Given the description of an element on the screen output the (x, y) to click on. 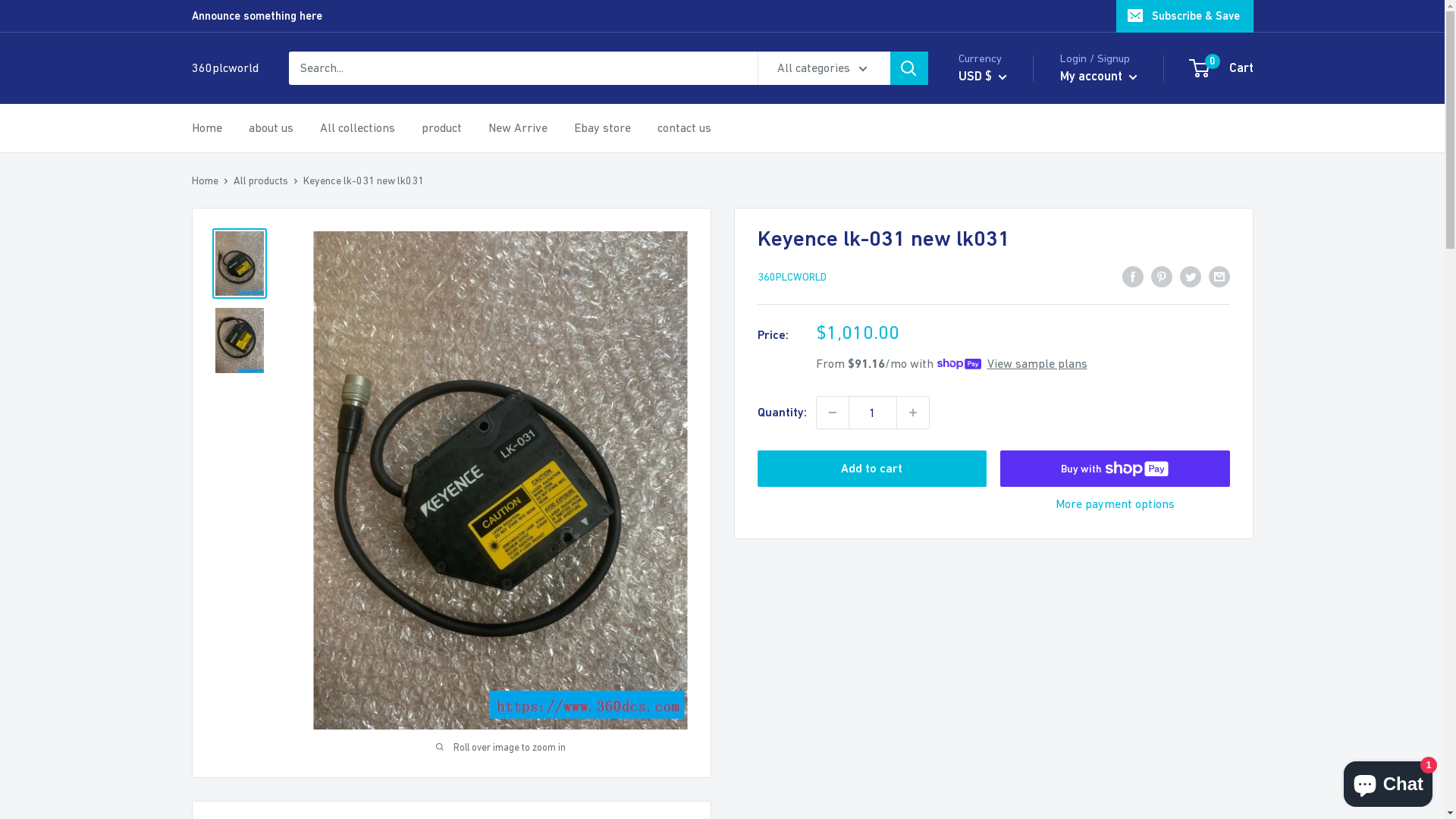
360PLCWORLD Element type: text (790, 276)
EUR Element type: text (229, 196)
LBP Element type: text (229, 698)
LAK Element type: text (229, 677)
KYD Element type: text (229, 637)
360plcworld Element type: text (224, 67)
JPY Element type: text (229, 517)
More payment options Element type: text (1115, 503)
FJD Element type: text (229, 216)
My account Element type: text (1098, 76)
AFN Element type: text (1004, 276)
CVE Element type: text (1004, 786)
ALL Element type: text (1004, 300)
GYD Element type: text (229, 336)
DOP Element type: text (229, 115)
KZT Element type: text (229, 657)
CNY Element type: text (1004, 740)
GBP Element type: text (229, 256)
MKD Element type: text (229, 778)
HUF Element type: text (229, 396)
BSD Element type: text (1004, 601)
All collections Element type: text (357, 127)
AMD Element type: text (1004, 323)
USD $ Element type: text (982, 76)
Home Element type: text (204, 180)
BAM Element type: text (1004, 438)
LKR Element type: text (229, 717)
ETB Element type: text (229, 176)
JMD Element type: text (229, 497)
DJF Element type: text (229, 75)
ANG Element type: text (1004, 346)
EGP Element type: text (229, 155)
CVE Element type: text (229, 35)
KRW Element type: text (229, 617)
AZN Element type: text (1004, 416)
product Element type: text (441, 127)
BBD Element type: text (1004, 462)
Increase quantity by 1 Element type: hover (912, 412)
GNF Element type: text (229, 296)
IDR Element type: text (229, 416)
Home Element type: text (206, 127)
ISK Element type: text (229, 477)
MDL Element type: text (229, 757)
Subscribe & Save Element type: text (1184, 15)
Shopify online store chat Element type: hover (1388, 780)
ILS Element type: text (229, 437)
BZD Element type: text (1004, 647)
CRC Element type: text (1004, 762)
KMF Element type: text (229, 597)
HNL Element type: text (229, 376)
INR Element type: text (229, 456)
HKD Element type: text (229, 356)
Ebay store Element type: text (601, 127)
KES Element type: text (229, 537)
about us Element type: text (270, 127)
GTQ Element type: text (229, 316)
Decrease quantity by 1 Element type: hover (831, 412)
KHR Element type: text (229, 577)
contact us Element type: text (683, 127)
AWG Element type: text (1004, 392)
MAD Element type: text (229, 738)
BWP Element type: text (1004, 624)
DZD Element type: text (229, 136)
MMK Element type: text (229, 798)
CAD Element type: text (1004, 670)
CHF Element type: text (1004, 716)
FKP Element type: text (229, 236)
GMD Element type: text (229, 276)
0
Cart Element type: text (1221, 68)
CZK Element type: text (229, 55)
Add to cart Element type: text (871, 468)
CDF Element type: text (1004, 693)
AUD Element type: text (1004, 369)
BOB Element type: text (1004, 577)
KGS Element type: text (229, 557)
DKK Element type: text (229, 95)
AED Element type: text (1004, 253)
BDT Element type: text (1004, 485)
BGN Element type: text (1004, 508)
All products Element type: text (260, 180)
New Arrive Element type: text (517, 127)
BIF Element type: text (1004, 531)
CRC Element type: text (229, 15)
BND Element type: text (1004, 554)
